Given the description of an element on the screen output the (x, y) to click on. 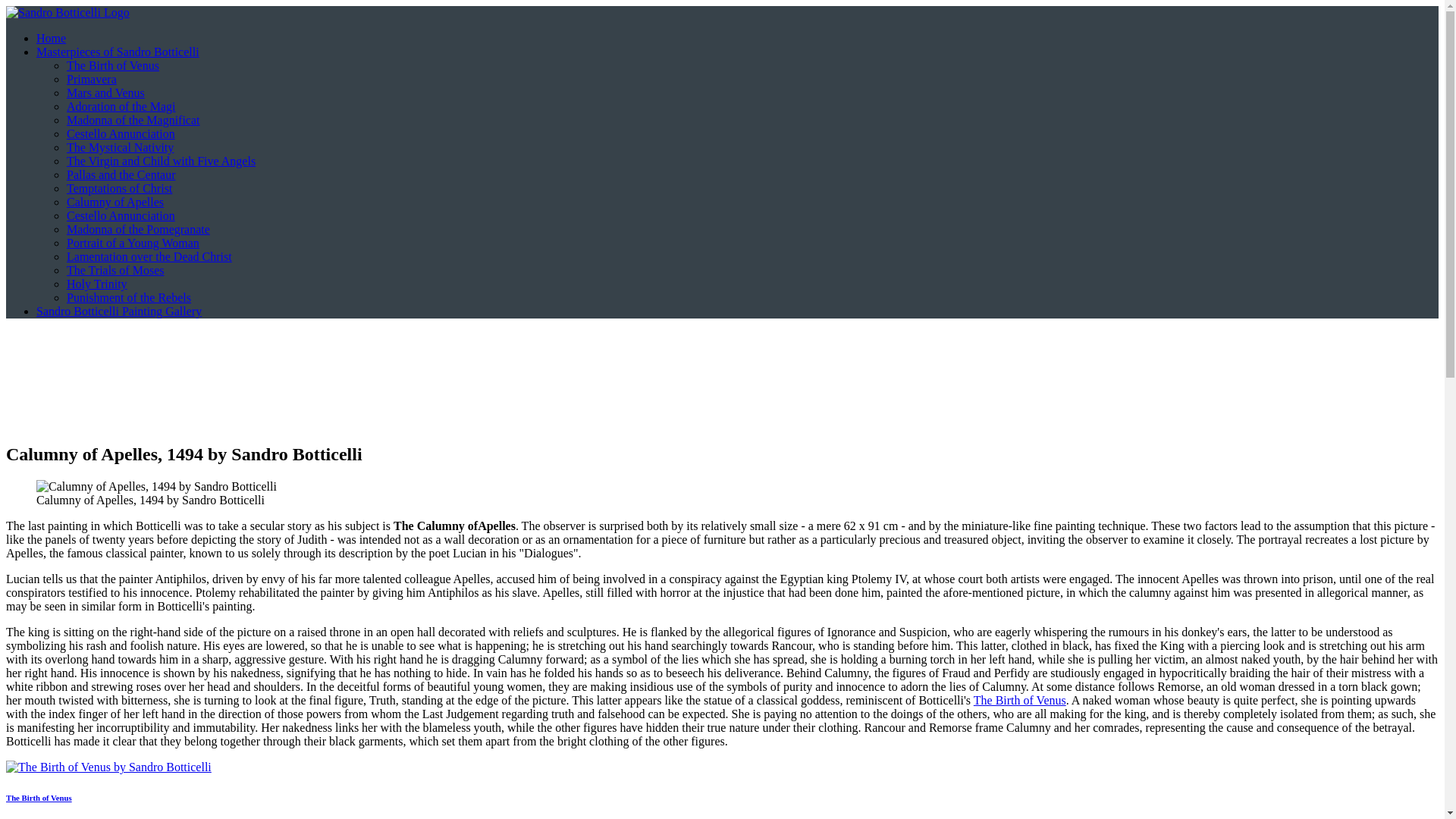
Adoration of the Magi (121, 106)
Pallas and the Centaur (121, 174)
Masterpieces of Sandro Botticelli (117, 51)
Sandro Botticelli Painting Gallery (119, 310)
The Virgin and Child with Five Angels (161, 160)
Temptations of Christ (118, 187)
Lamentation over the Dead Christ (148, 256)
Home (50, 38)
The Trials of Moses (114, 269)
The Birth of Venus (1019, 699)
